Given the description of an element on the screen output the (x, y) to click on. 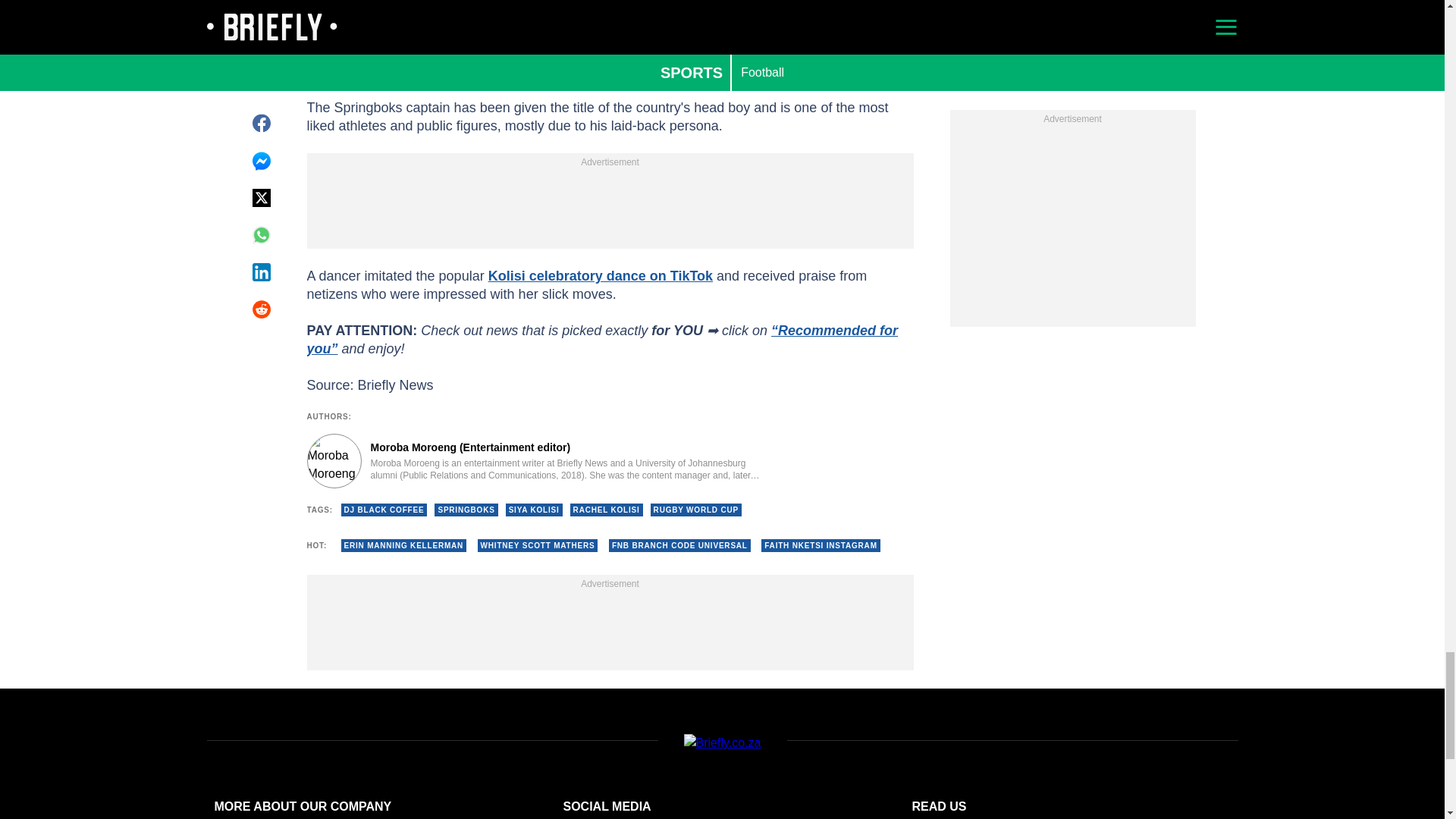
Author page (533, 461)
